Given the description of an element on the screen output the (x, y) to click on. 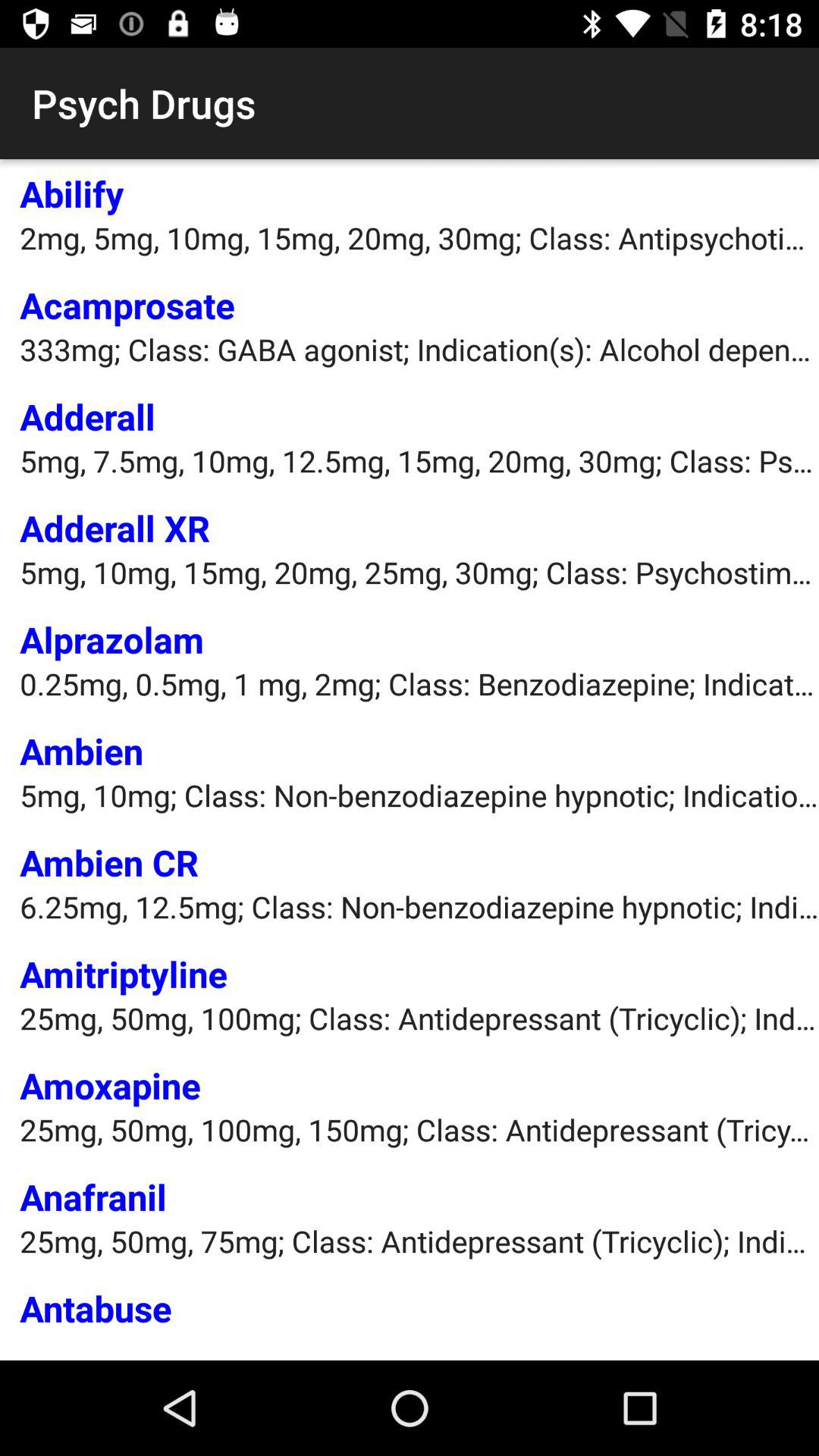
launch app below psych drugs icon (71, 193)
